Given the description of an element on the screen output the (x, y) to click on. 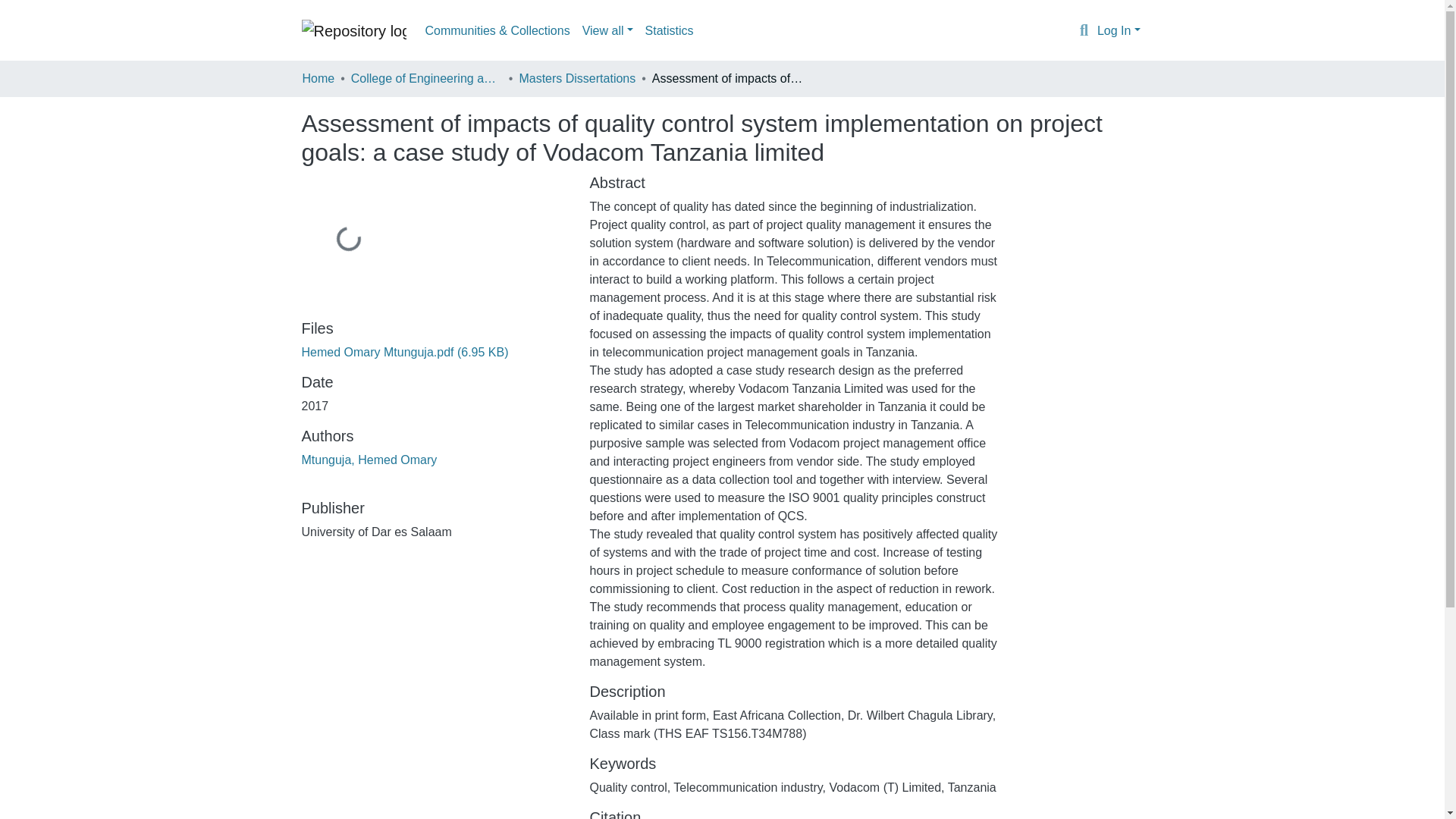
College of Engineering and Technology (426, 78)
Search (1084, 30)
Statistics (669, 30)
Masters Dissertations (576, 78)
Home (317, 78)
View all (607, 30)
Log In (1118, 30)
Statistics (669, 30)
Mtunguja, Hemed Omary (369, 459)
